Given the description of an element on the screen output the (x, y) to click on. 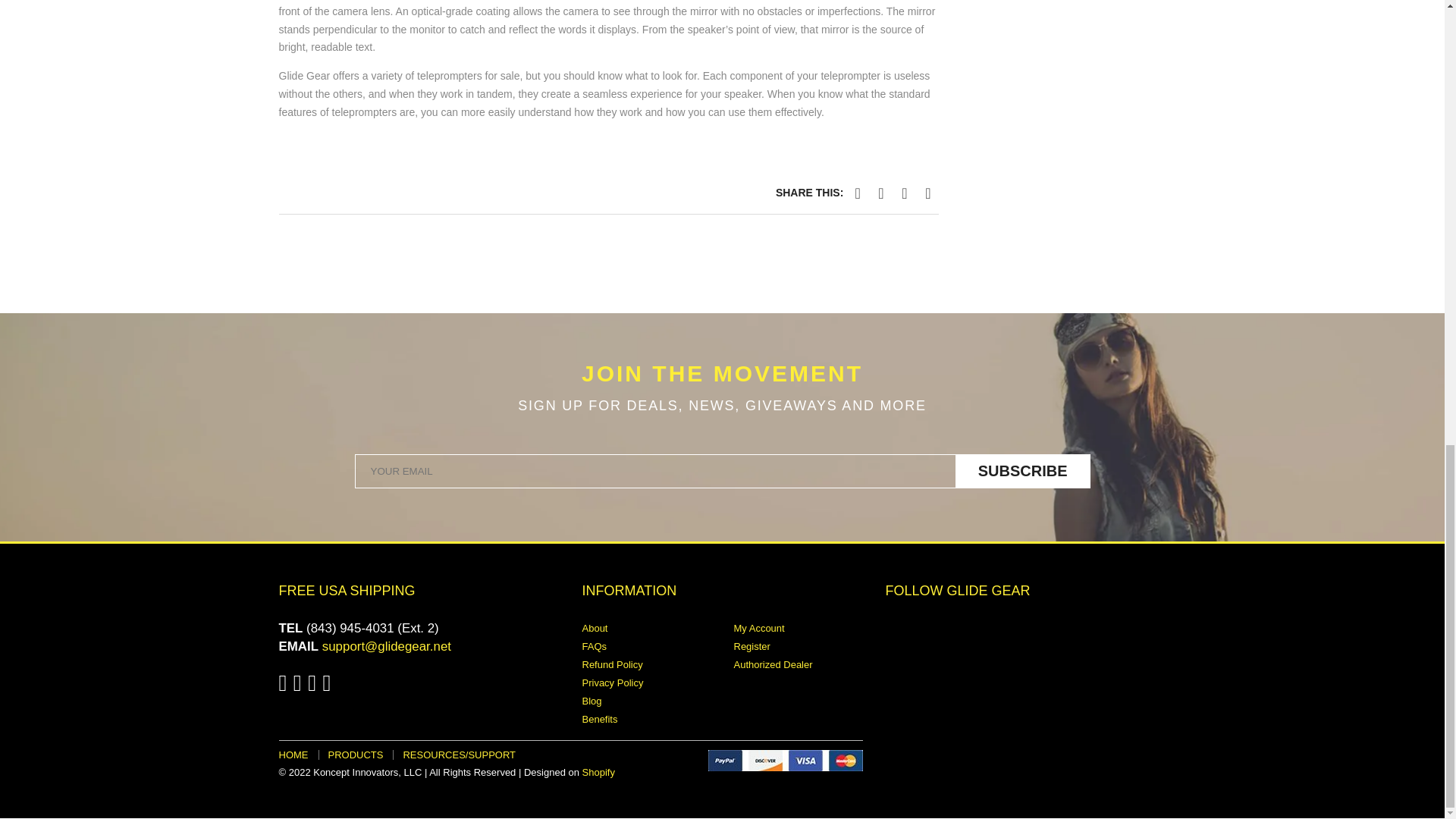
Subscribe (1022, 471)
